Given the description of an element on the screen output the (x, y) to click on. 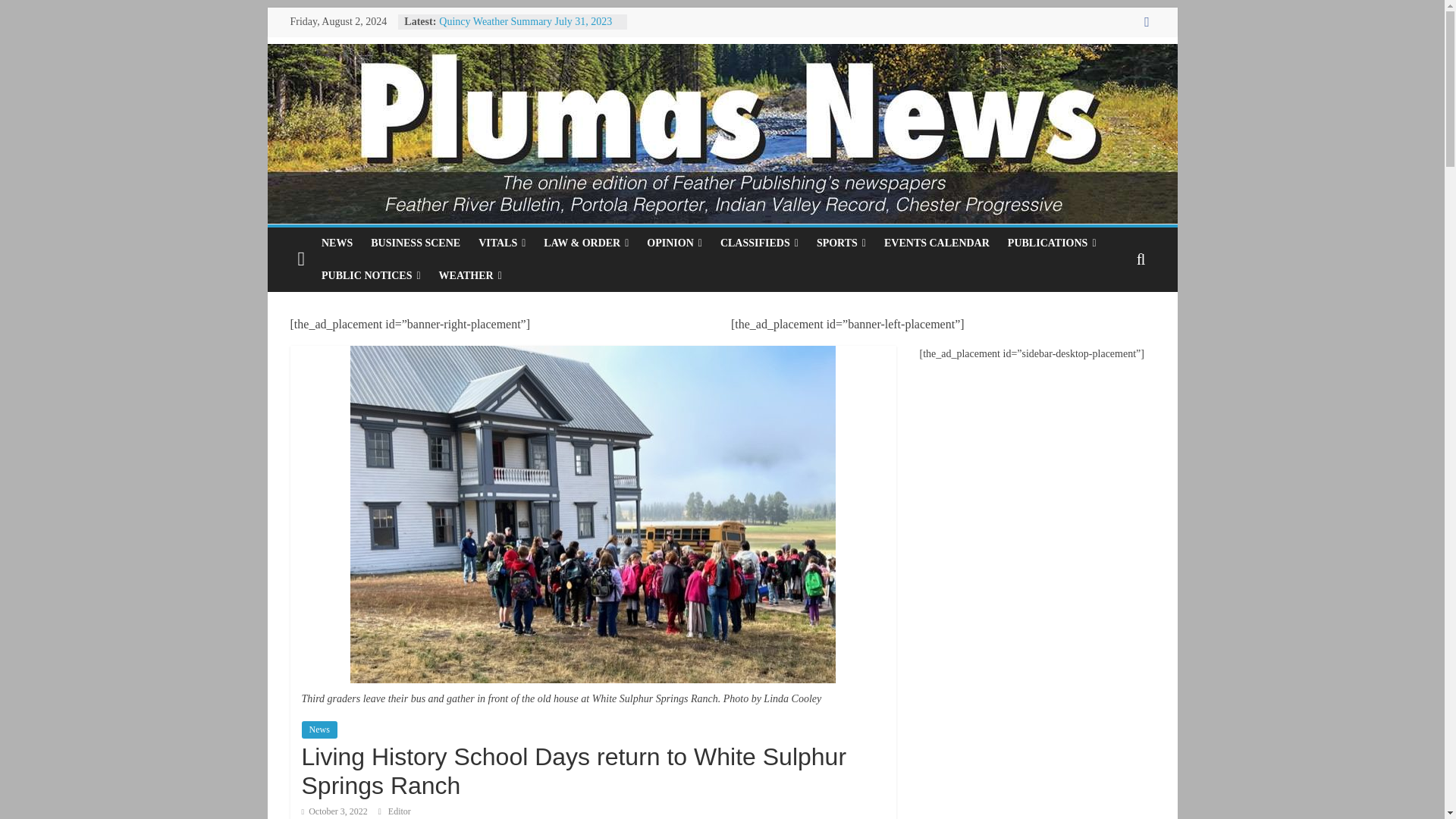
EVENTS CALENDAR (936, 243)
OPINION (674, 243)
PUBLICATIONS (1051, 243)
NEWS (337, 243)
9:47 am (334, 810)
CLASSIFIEDS (759, 243)
BUSINESS SCENE (414, 243)
SPORTS (841, 243)
Quincy Weather Summary July 31, 2023 (525, 21)
Quincy Weather Summary July 31, 2023 (525, 21)
VITALS (501, 243)
Editor (399, 810)
